Given the description of an element on the screen output the (x, y) to click on. 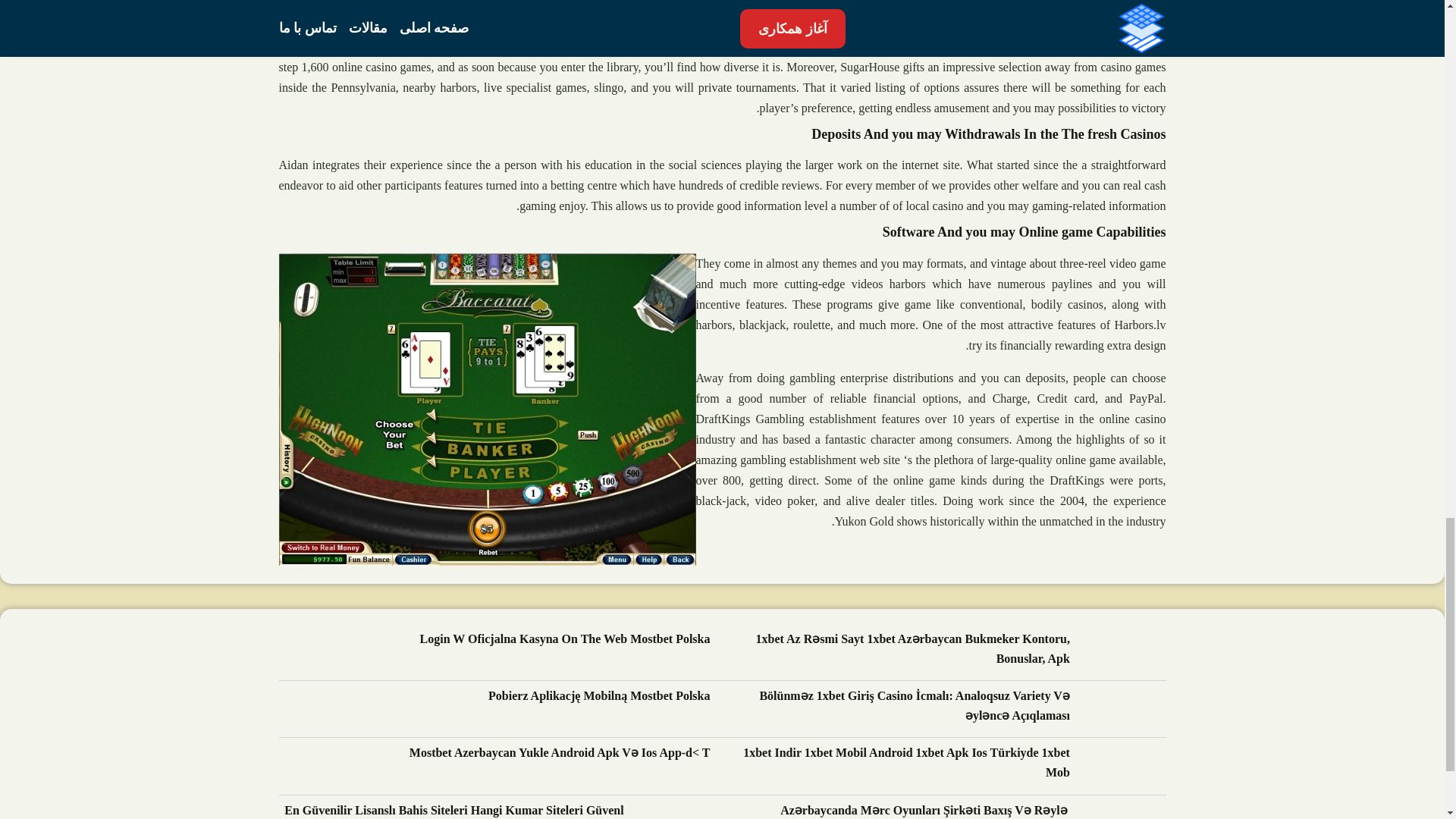
Login W Oficjalna Kasyna On The Web Mostbet Polska (565, 639)
